Given the description of an element on the screen output the (x, y) to click on. 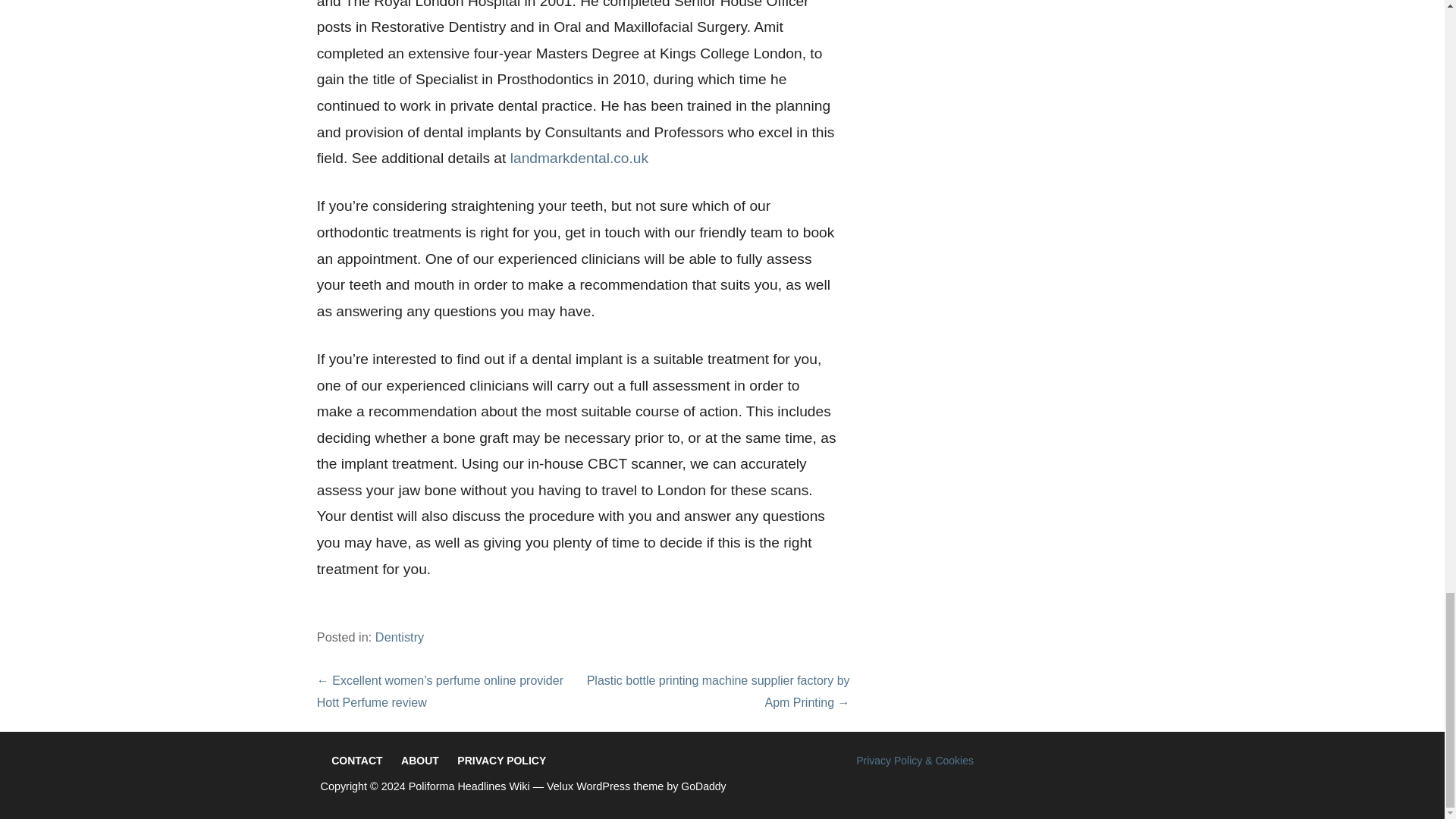
landmarkdental.co.uk (579, 157)
Dentistry (399, 636)
